Given the description of an element on the screen output the (x, y) to click on. 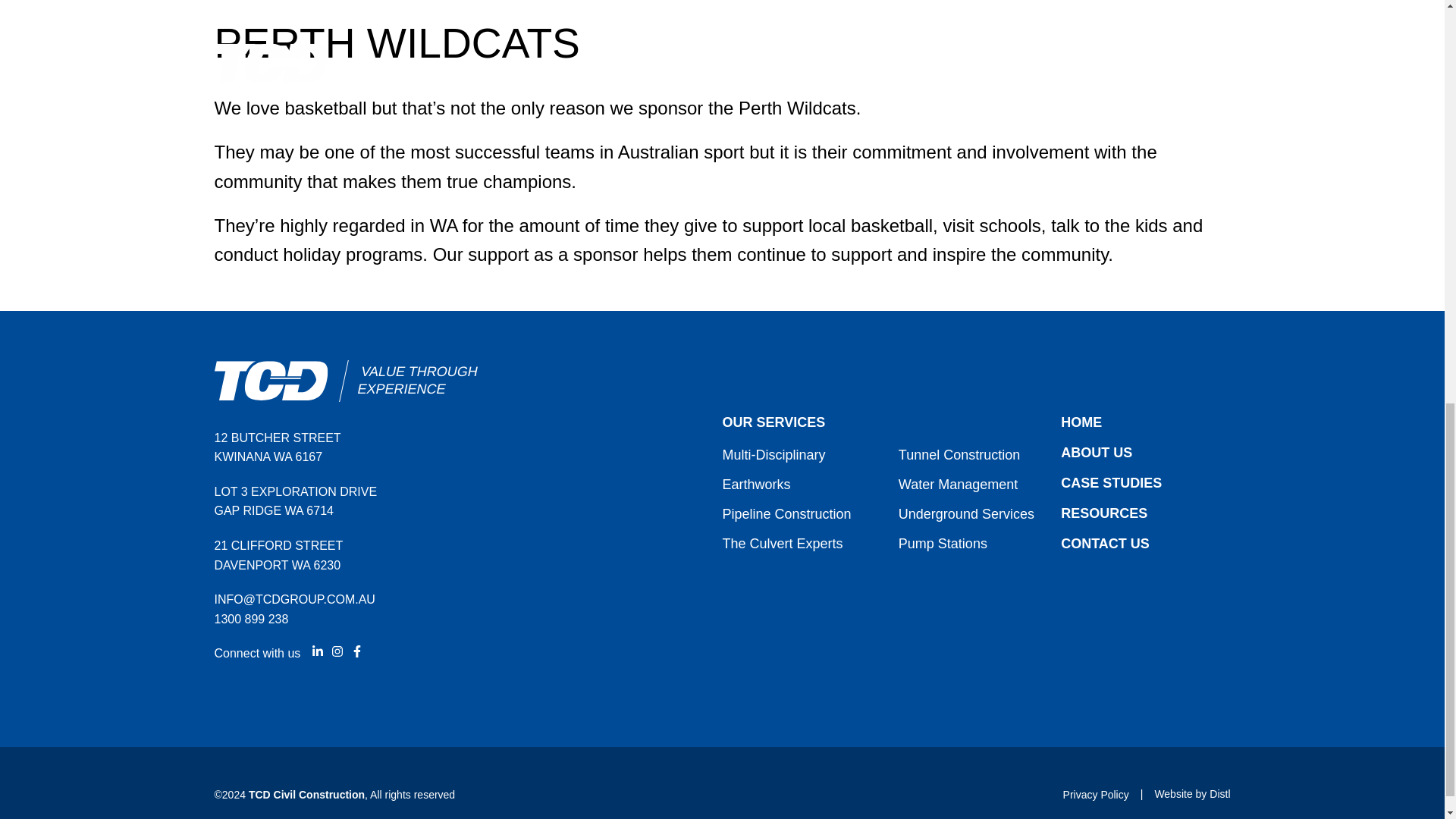
Underground Services (965, 513)
Water Management (957, 484)
The Culvert Experts (782, 543)
HOME (1081, 421)
ABOUT US (1096, 452)
CASE STUDIES (1111, 482)
1300 899 238 (251, 618)
Tunnel Construction (959, 454)
Pump Stations (942, 543)
Pipeline Construction (786, 513)
